Given the description of an element on the screen output the (x, y) to click on. 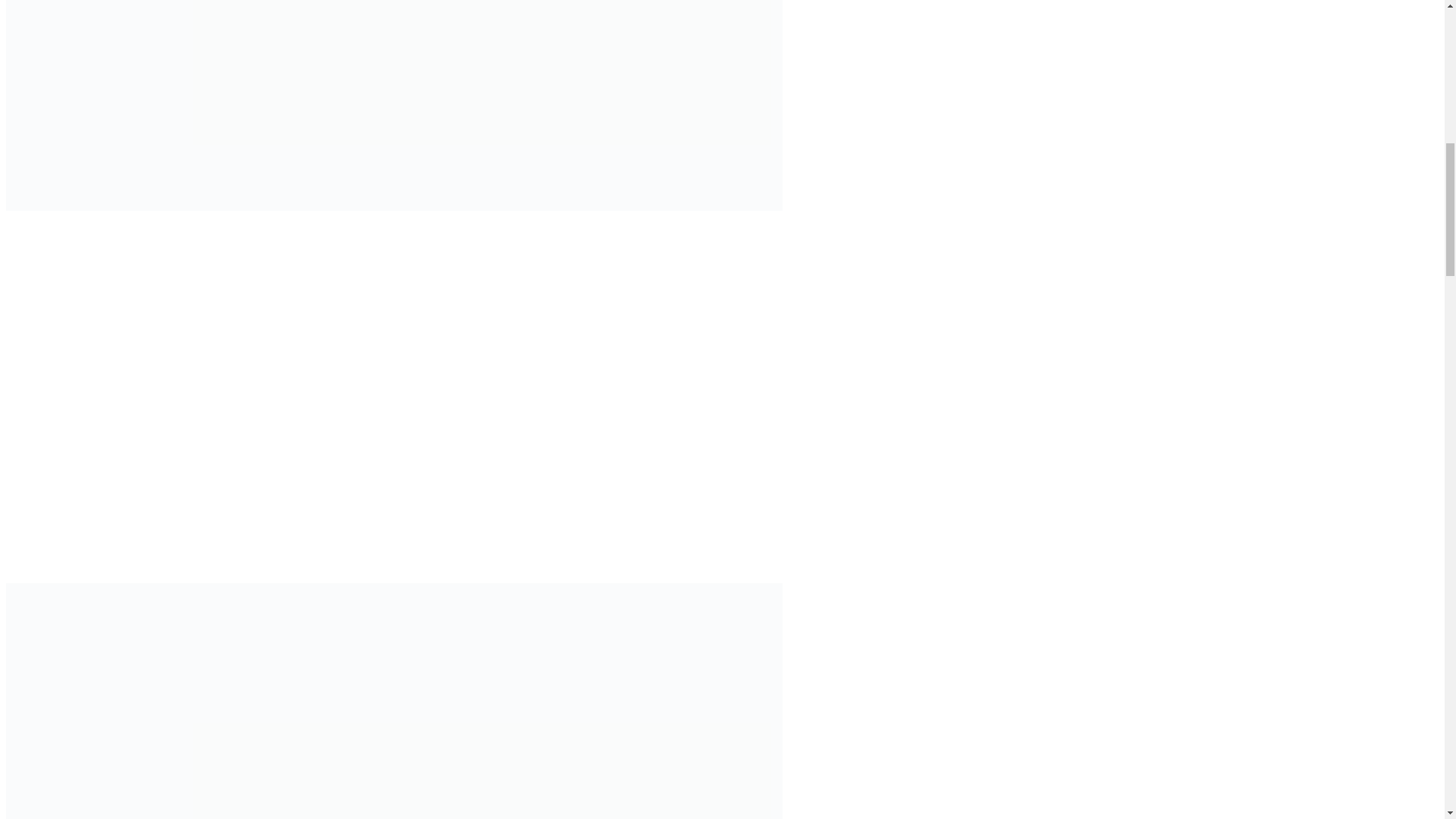
Business (45, 311)
December 19, 2022 (68, 293)
